Given the description of an element on the screen output the (x, y) to click on. 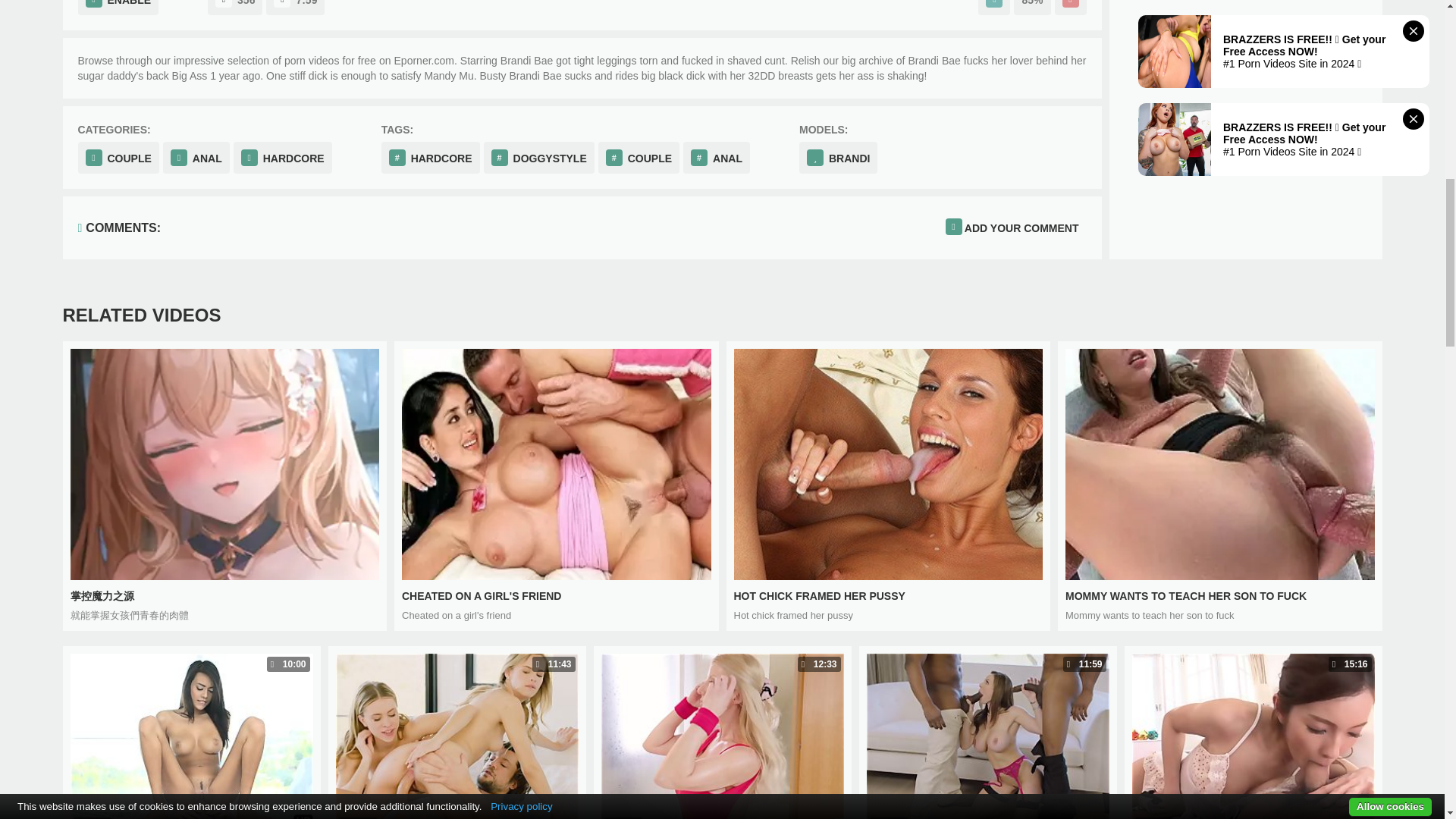
DOGGYSTYLE (538, 157)
HARDCORE (556, 486)
ANAL (430, 157)
HARDCORE (196, 157)
I LIKE IT! (281, 157)
ANAL (994, 7)
COUPLE (715, 157)
COUPLE (117, 157)
Enable Dim Moe (638, 157)
DISLIKE! (888, 486)
ENABLE (117, 7)
BRANDI (1070, 7)
